Given the description of an element on the screen output the (x, y) to click on. 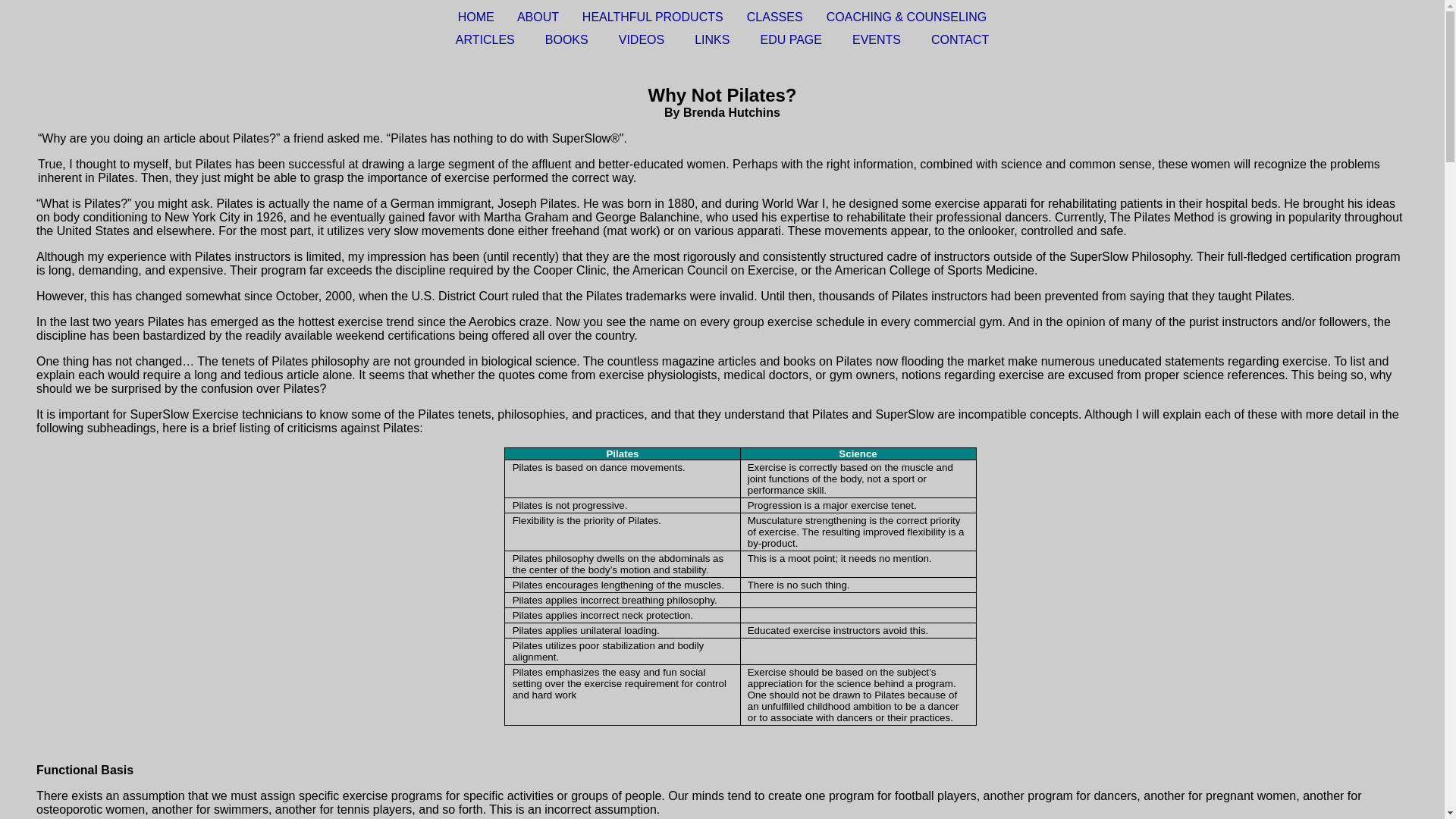
ARTICLES (485, 39)
CLASSES (774, 16)
HOME (476, 16)
VIDEOS (640, 39)
CONTACT (959, 39)
HEALTHFUL PRODUCTS (652, 16)
EDU PAGE (791, 39)
EVENTS (876, 39)
BOOKS (566, 39)
LINKS (711, 39)
ABOUT (537, 16)
